Given the description of an element on the screen output the (x, y) to click on. 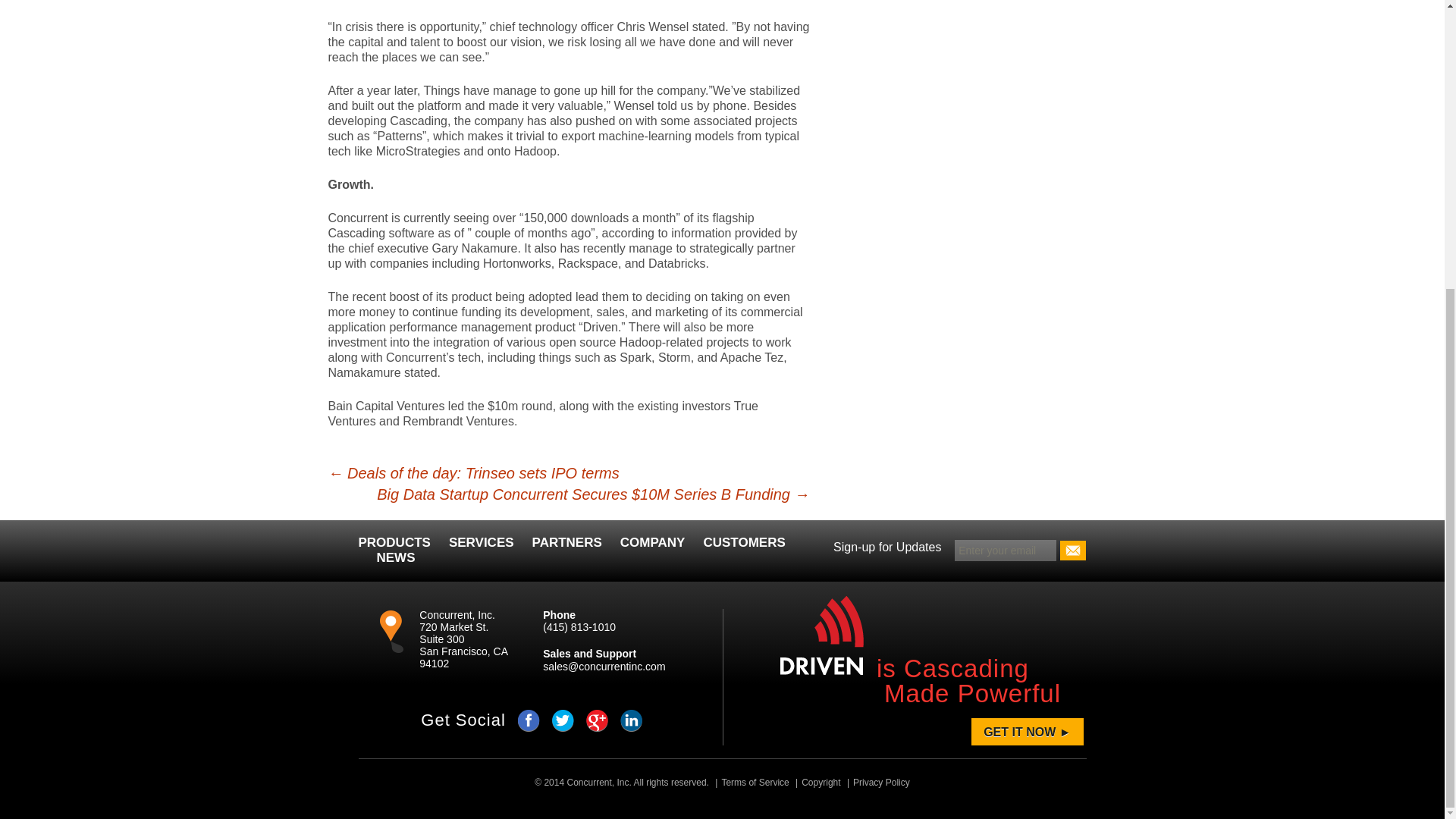
COMPANY (652, 542)
twitter (562, 721)
CUSTOMERS (743, 542)
Privacy Policy (876, 782)
facebook (529, 721)
Copyright (816, 782)
Concurrent (588, 782)
google plus (597, 721)
SERVICES (480, 542)
PARTNERS (567, 542)
Submit (1072, 550)
NEWS (394, 557)
Submit (1072, 550)
PRODUCTS (393, 542)
Terms of Service (750, 782)
